Given the description of an element on the screen output the (x, y) to click on. 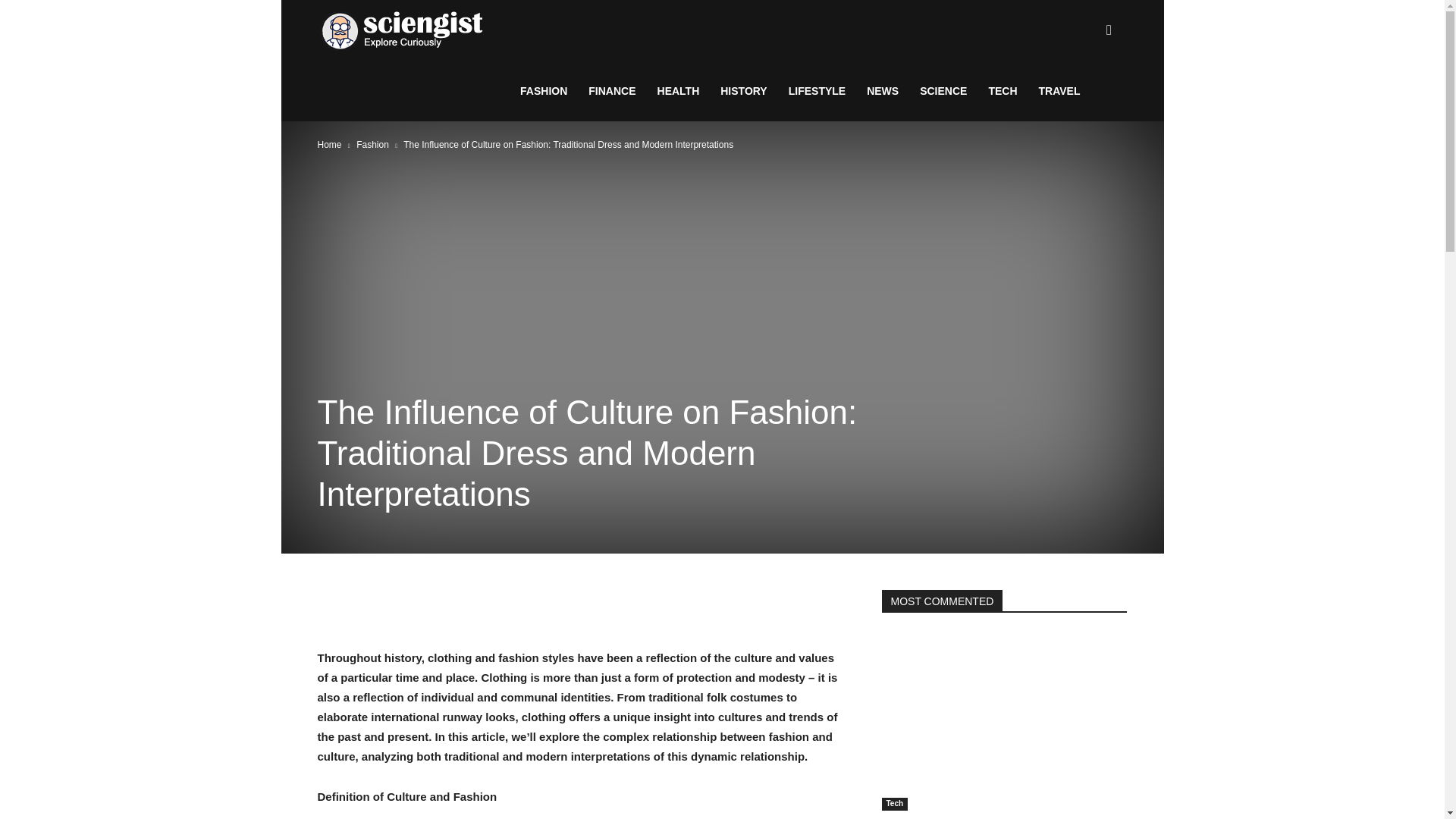
Fashion (372, 144)
FASHION (543, 90)
LIFESTYLE (816, 90)
View all posts in Fashion (372, 144)
Sciengist (401, 30)
HEALTH (678, 90)
TRAVEL (1058, 90)
Search (1085, 102)
Home (328, 144)
SCIENCE (942, 90)
